Given the description of an element on the screen output the (x, y) to click on. 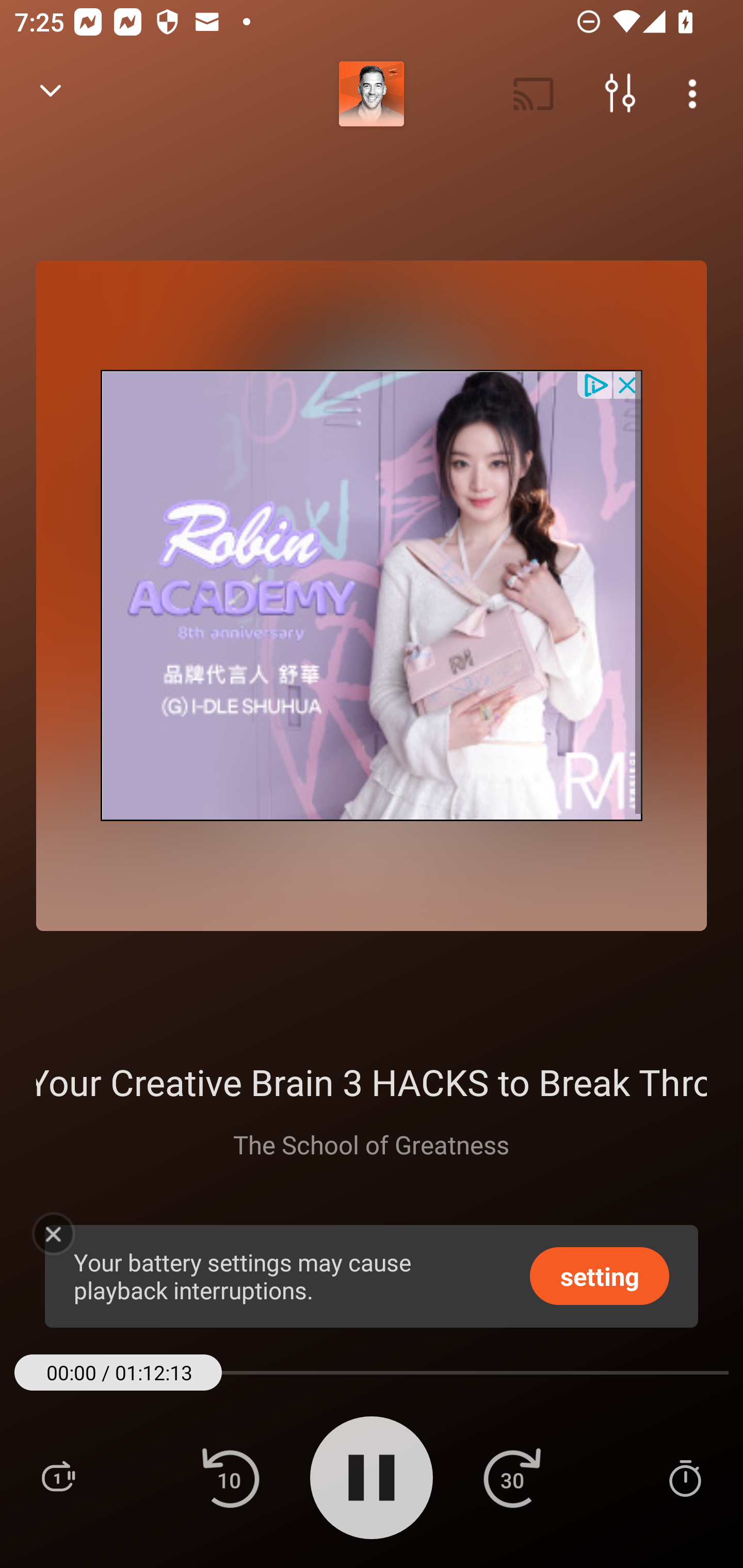
Cast. Disconnected (533, 93)
 Back (50, 94)
The School of Greatness (370, 1144)
setting (599, 1275)
 Playlist (57, 1477)
Sleep Timer  (684, 1477)
